Given the description of an element on the screen output the (x, y) to click on. 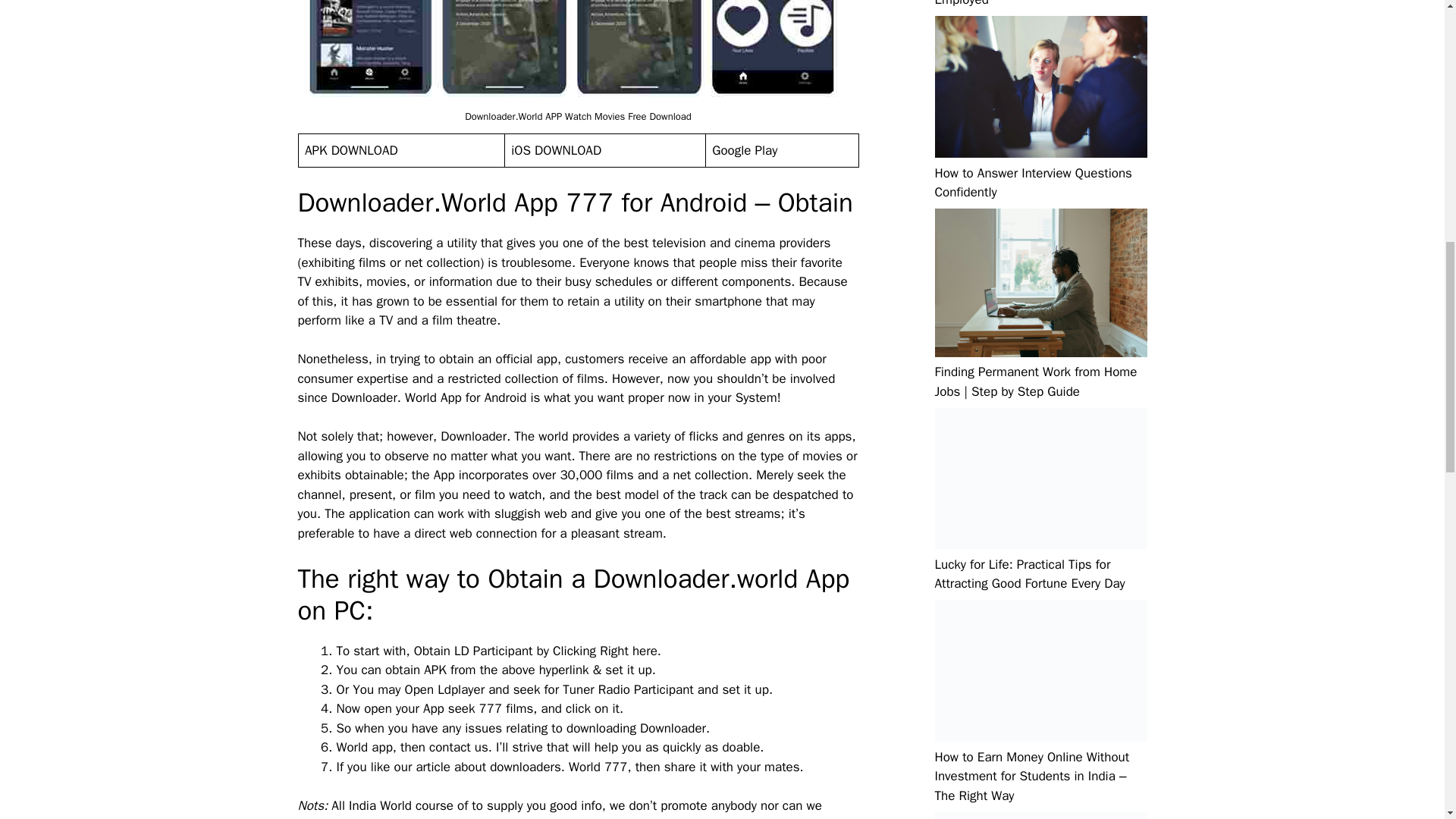
How to Get a Personal Loan for Self Employed (1031, 3)
How to Answer Interview Questions Confidently (1032, 182)
Google Play (744, 150)
